Given the description of an element on the screen output the (x, y) to click on. 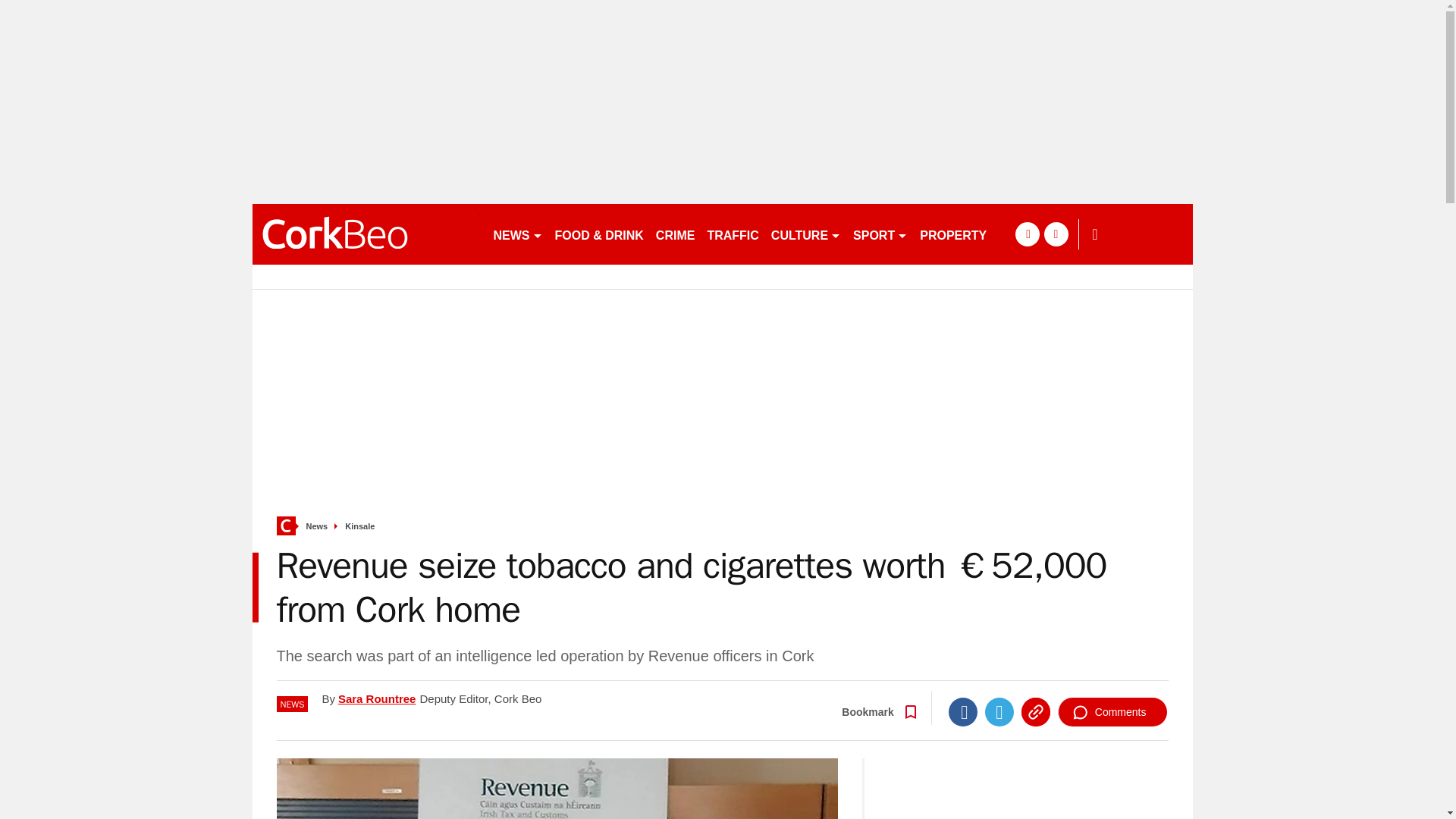
Twitter (999, 711)
PROPERTY (953, 233)
NEWS (517, 233)
Facebook (962, 711)
TRAFFIC (732, 233)
SPORT (880, 233)
corklive (365, 233)
twitter (1055, 233)
facebook (1026, 233)
CULTURE (806, 233)
